Given the description of an element on the screen output the (x, y) to click on. 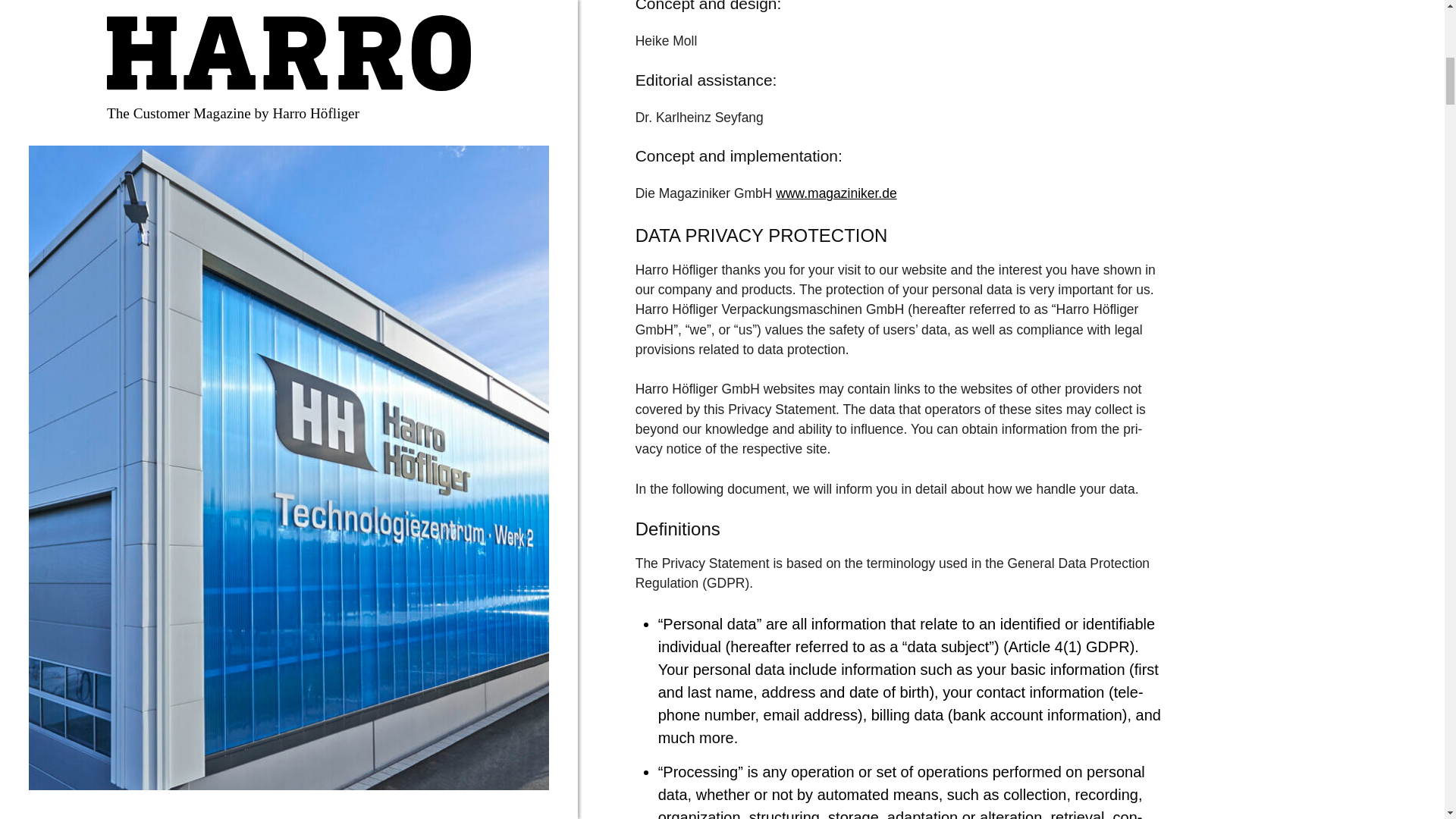
www.magaziniker.de (836, 192)
